Given the description of an element on the screen output the (x, y) to click on. 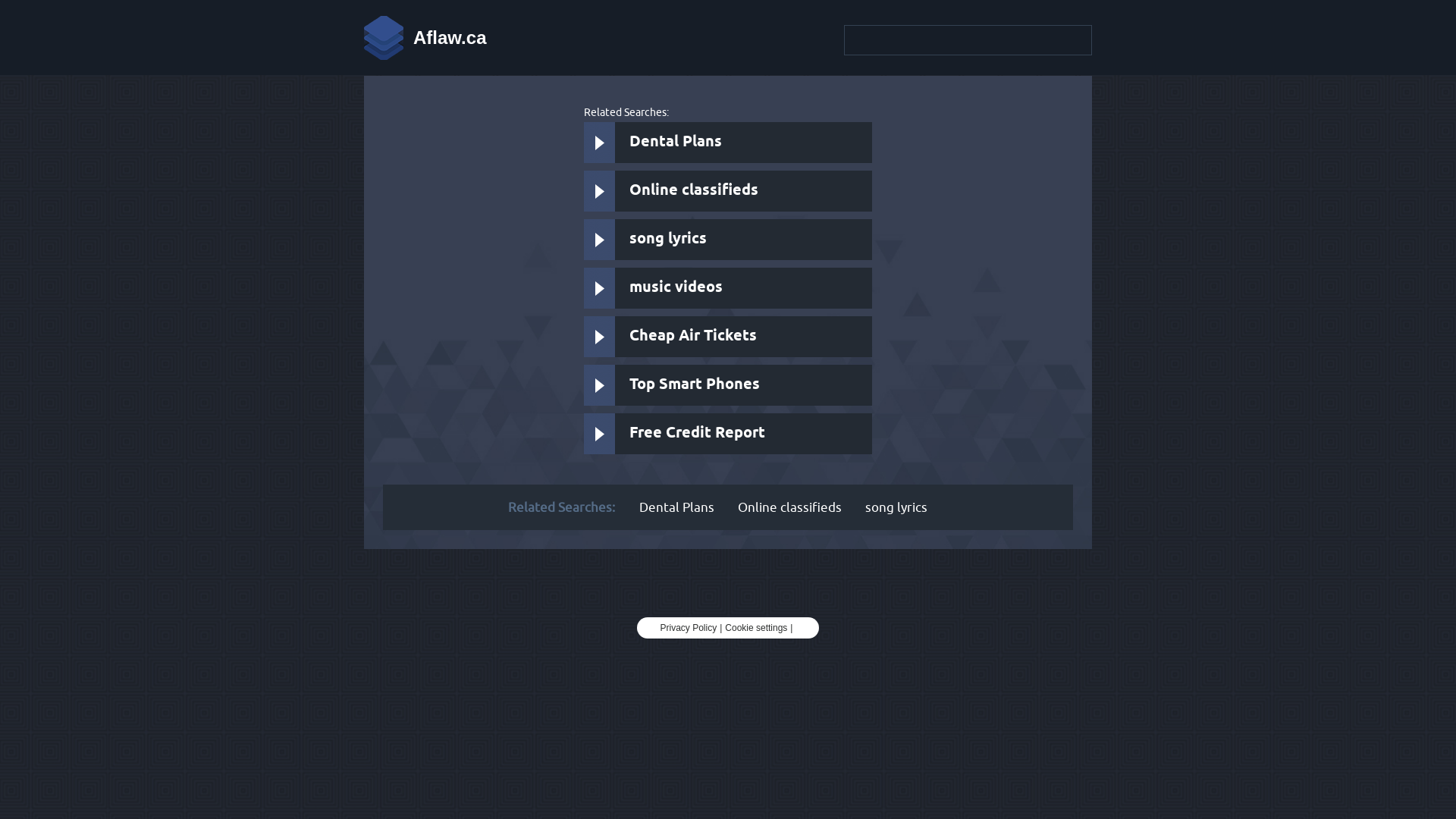
Cookie settings Element type: text (755, 627)
Aflaw.ca Element type: text (425, 37)
Privacy Policy Element type: text (687, 627)
song lyrics Element type: text (727, 239)
Online classifieds Element type: text (788, 506)
music videos Element type: text (727, 287)
Online classifieds Element type: text (727, 190)
song lyrics Element type: text (895, 506)
Dental Plans Element type: text (727, 142)
Dental Plans Element type: text (675, 506)
Cheap Air Tickets Element type: text (727, 336)
Free Credit Report Element type: text (727, 433)
Top Smart Phones Element type: text (727, 384)
